Given the description of an element on the screen output the (x, y) to click on. 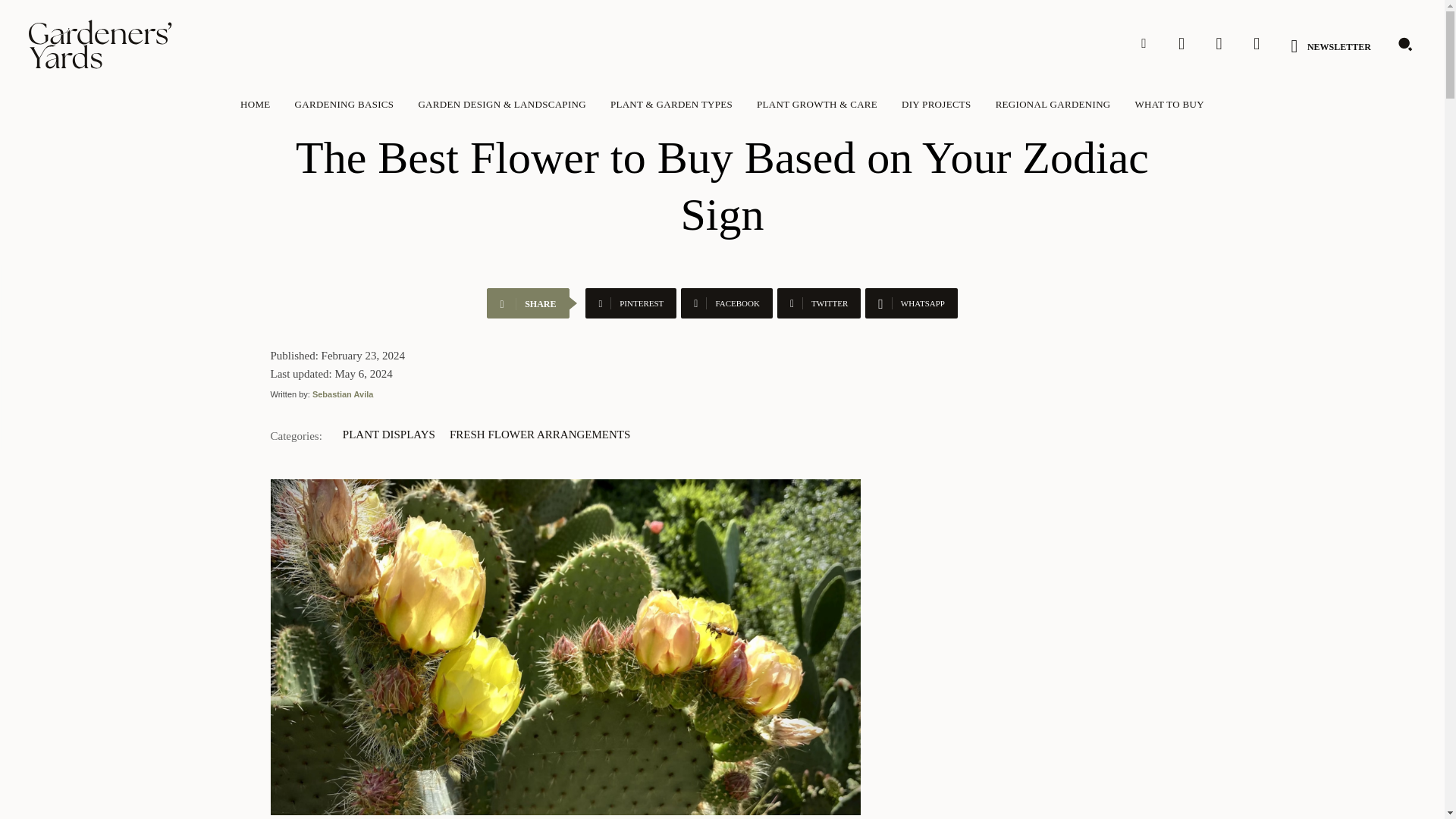
Instagram (1181, 43)
TikTok (1219, 43)
Pinterest (1143, 43)
Youtube (1256, 43)
